Given the description of an element on the screen output the (x, y) to click on. 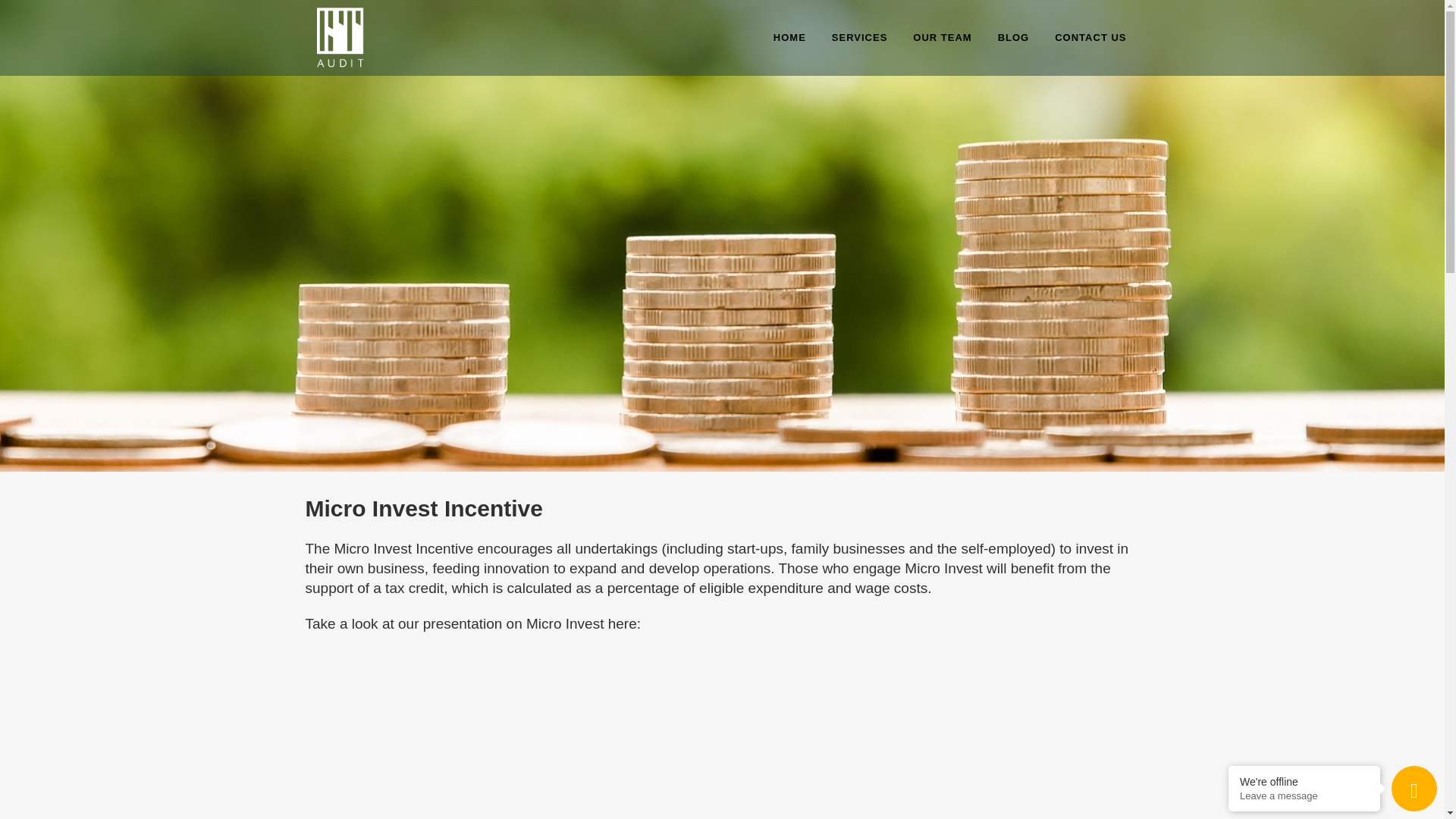
SERVICES (859, 38)
BLOG (1013, 38)
OUR TEAM (941, 38)
CONTACT US (1090, 38)
HOME (789, 38)
We're offline (1304, 781)
Leave a message (1304, 795)
